Given the description of an element on the screen output the (x, y) to click on. 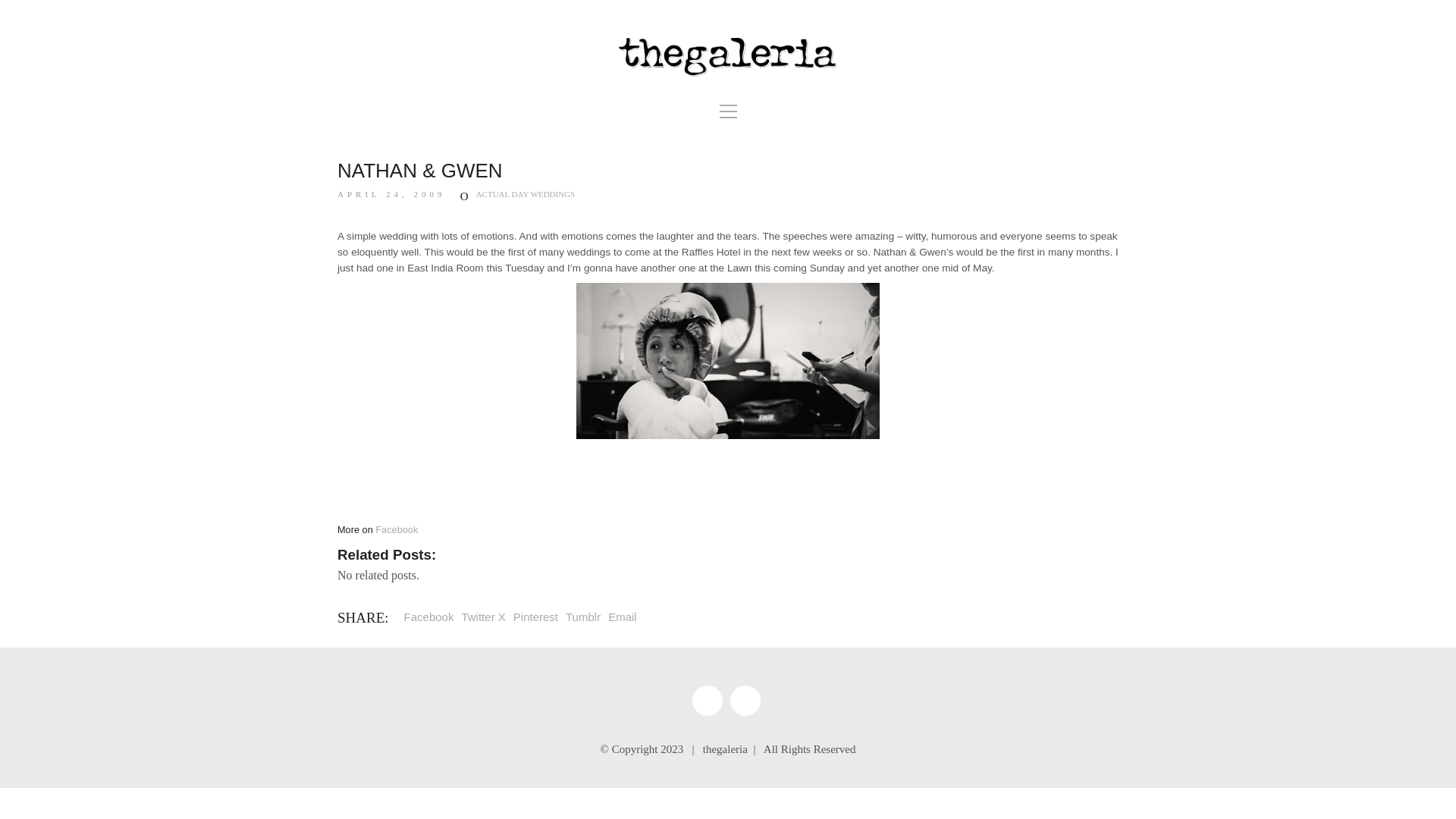
Instagram (744, 700)
Facebook (429, 616)
Facebook (396, 528)
ACTUAL DAY WEDDINGS (525, 194)
Facebook (706, 700)
Twitter X (483, 616)
